Given the description of an element on the screen output the (x, y) to click on. 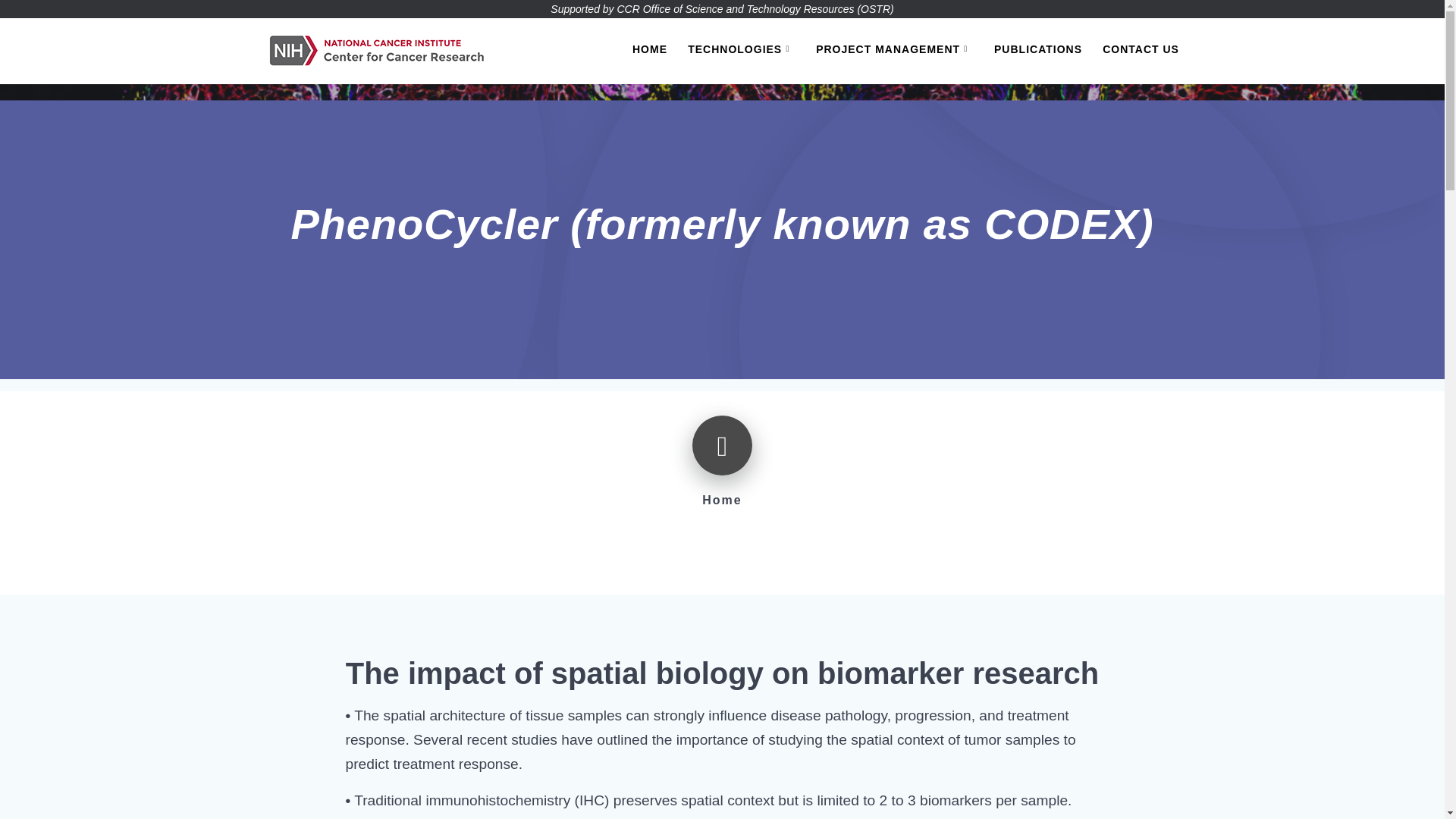
PUBLICATIONS (1037, 49)
HOME (648, 49)
TECHNOLOGIES (740, 49)
CONTACT US (1140, 49)
Go to OSTR Homepage (721, 9)
PROJECT MANAGEMENT (894, 49)
